Given the description of an element on the screen output the (x, y) to click on. 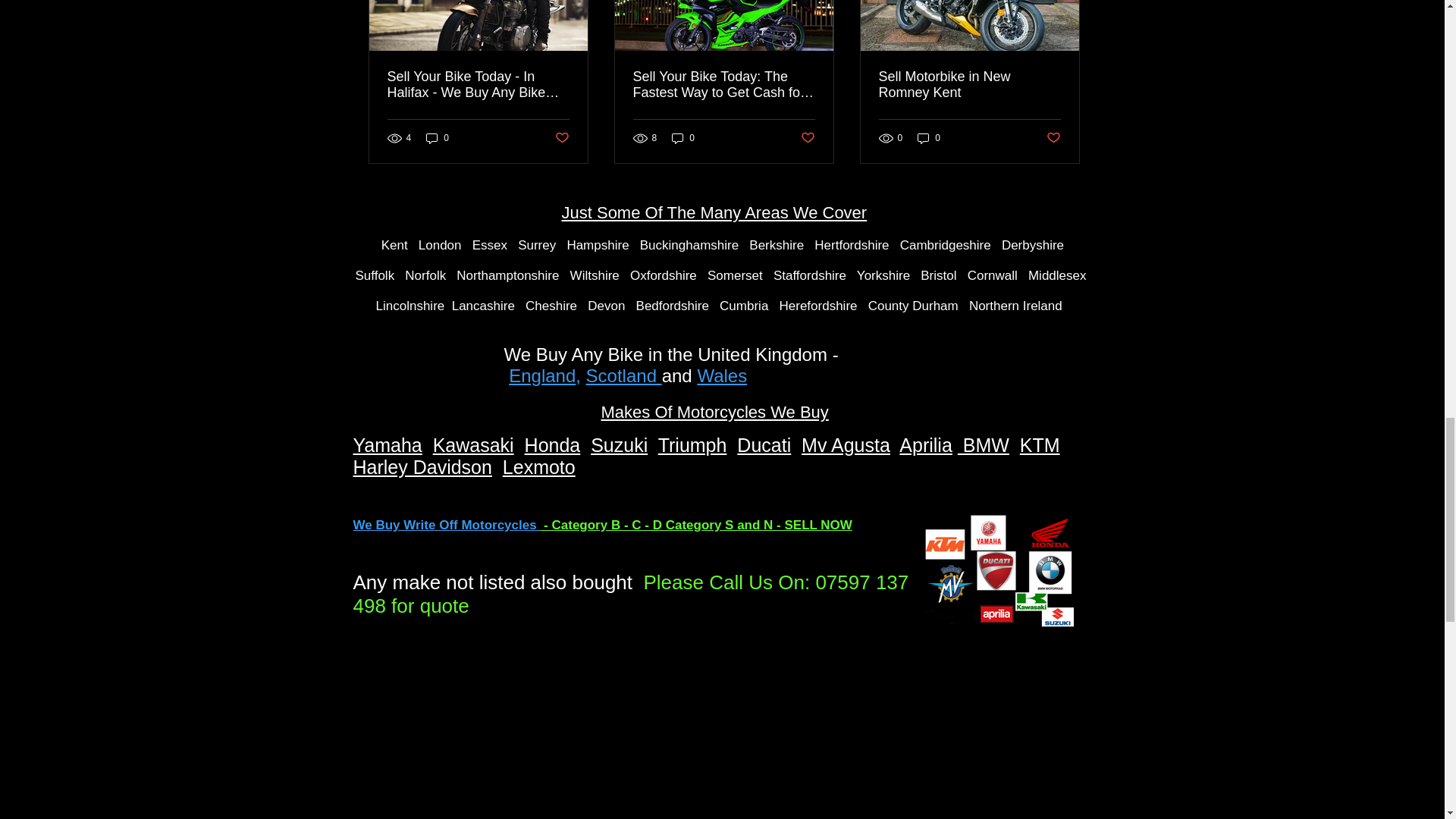
0 (682, 137)
Post not marked as liked (561, 138)
Post not marked as liked (807, 138)
0 (437, 137)
